Given the description of an element on the screen output the (x, y) to click on. 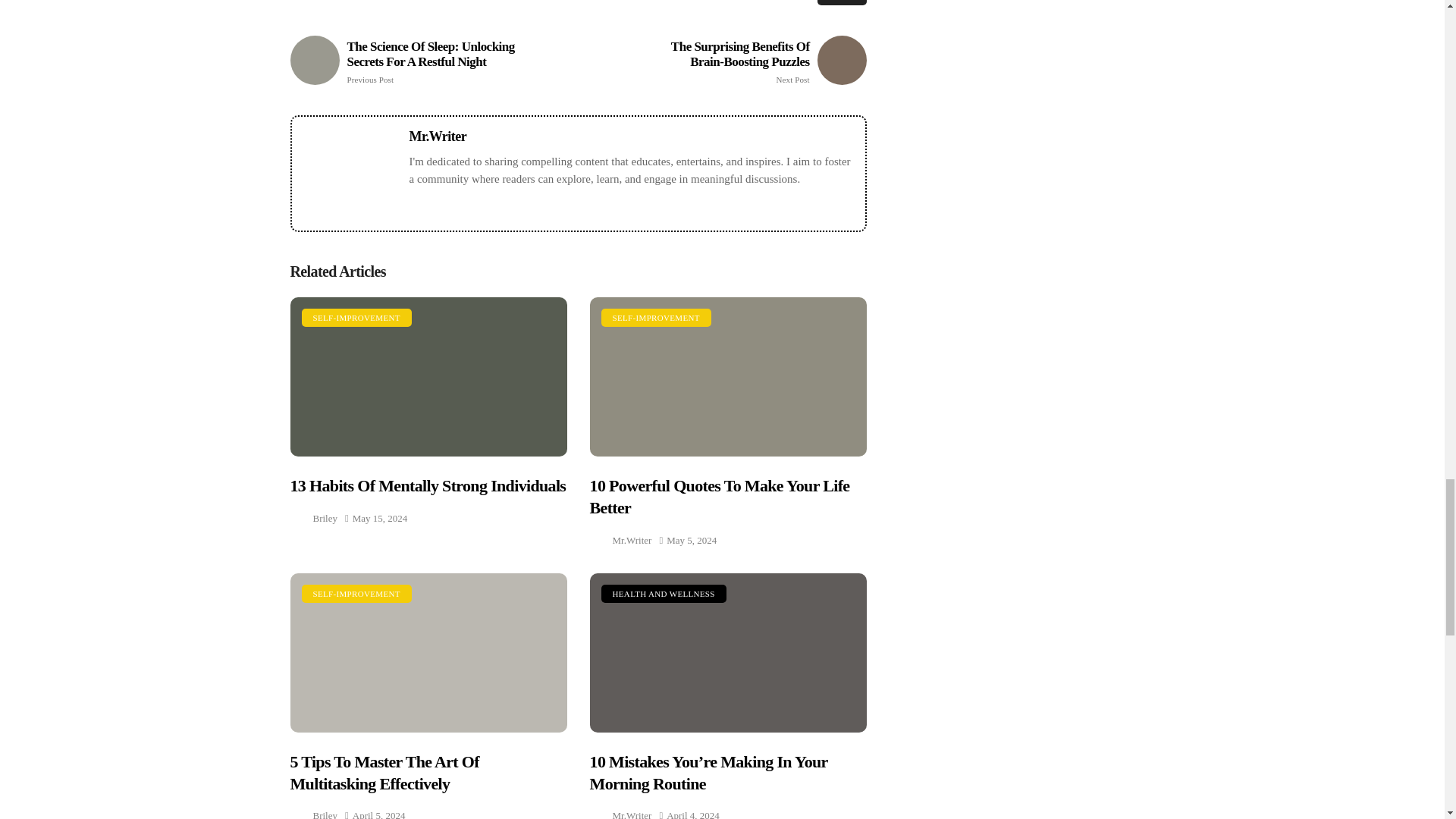
10 Powerful Quotes to Make Your Life Better (727, 377)
Posts by Briley (325, 812)
13 Habits of Mentally Strong Individuals (427, 377)
Posts by Mr.Writer (632, 539)
Posts by Briley (325, 517)
5 Tips to Master the Art of Multitasking Effectively (427, 653)
Posts by Mr.Writer (632, 812)
